Given the description of an element on the screen output the (x, y) to click on. 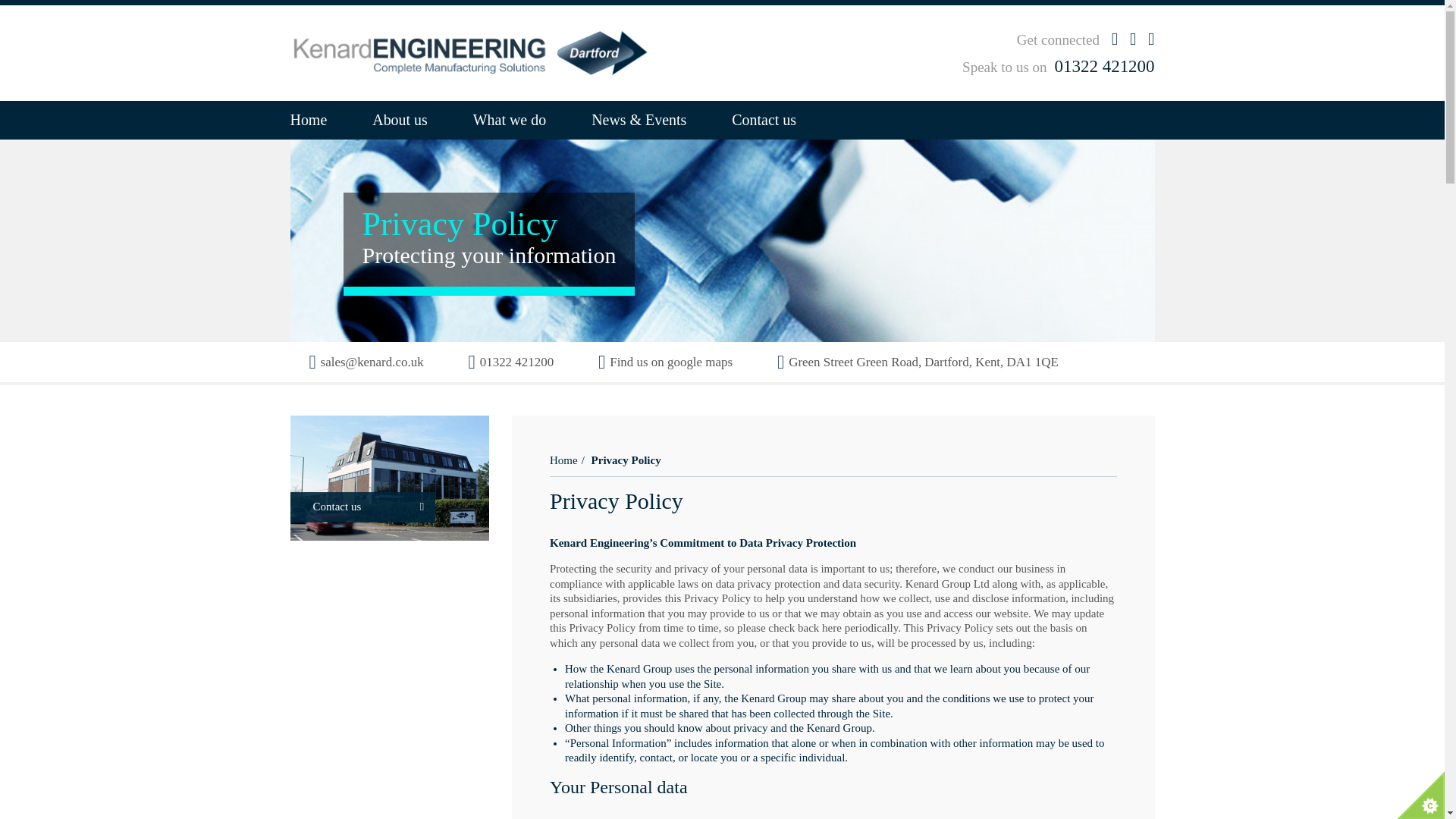
Home (319, 120)
Home (564, 460)
Contact us (389, 480)
What we do (509, 120)
01322 421200 (511, 362)
Find us on google maps (665, 362)
01322 421200 (1104, 66)
Privacy Policy (626, 460)
About us (399, 120)
Contact us (763, 120)
Green Street Green Road, Dartford, Kent, DA1 1QE (917, 362)
